Given the description of an element on the screen output the (x, y) to click on. 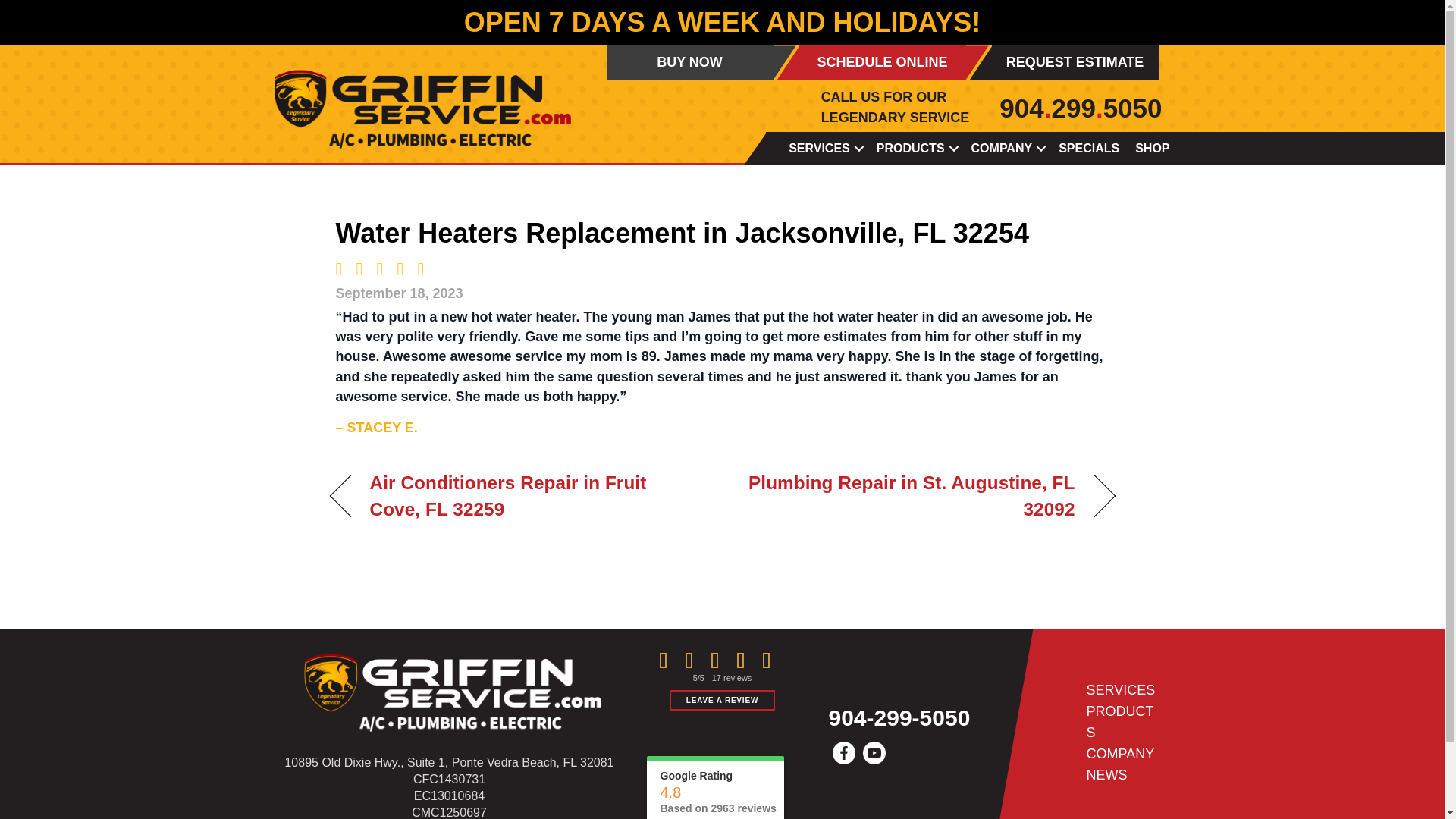
LOGO (418, 103)
BUY NOW (690, 62)
logo (448, 687)
904.299.5050 (1079, 107)
SCHEDULE ONLINE (882, 62)
REQUEST ESTIMATE (1074, 62)
SERVICES (823, 147)
